Given the description of an element on the screen output the (x, y) to click on. 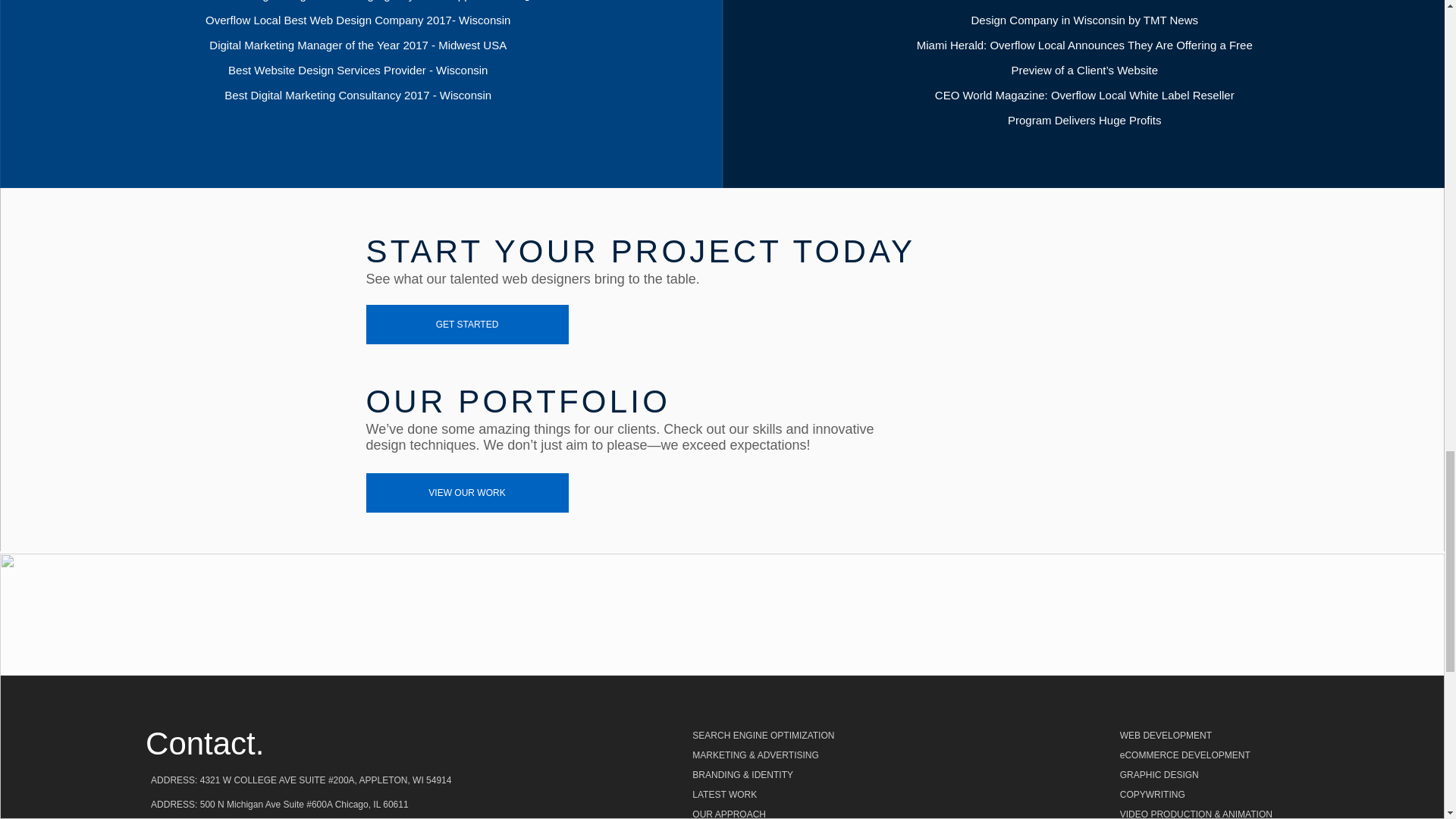
VIEW OUR WORK (466, 492)
CEO World Magazine: (992, 94)
Best Website Design Services Provider - Wisconsin (357, 69)
Digital Marketing Manager of the Year 2017 - Midwest USA (357, 44)
Overflow Local Best Web Design Company 2017- Wisconsin (358, 19)
OUR APPROACH (791, 811)
Miami Herald: (953, 44)
Milwaukee Journal Sentinel: (1000, 0)
GET STARTED (466, 323)
SEARCH ENGINE OPTIMIZATION (791, 735)
Contact. (204, 743)
Best Digital Marketing Consultancy 2017 - Wisconsin (358, 94)
